Given the description of an element on the screen output the (x, y) to click on. 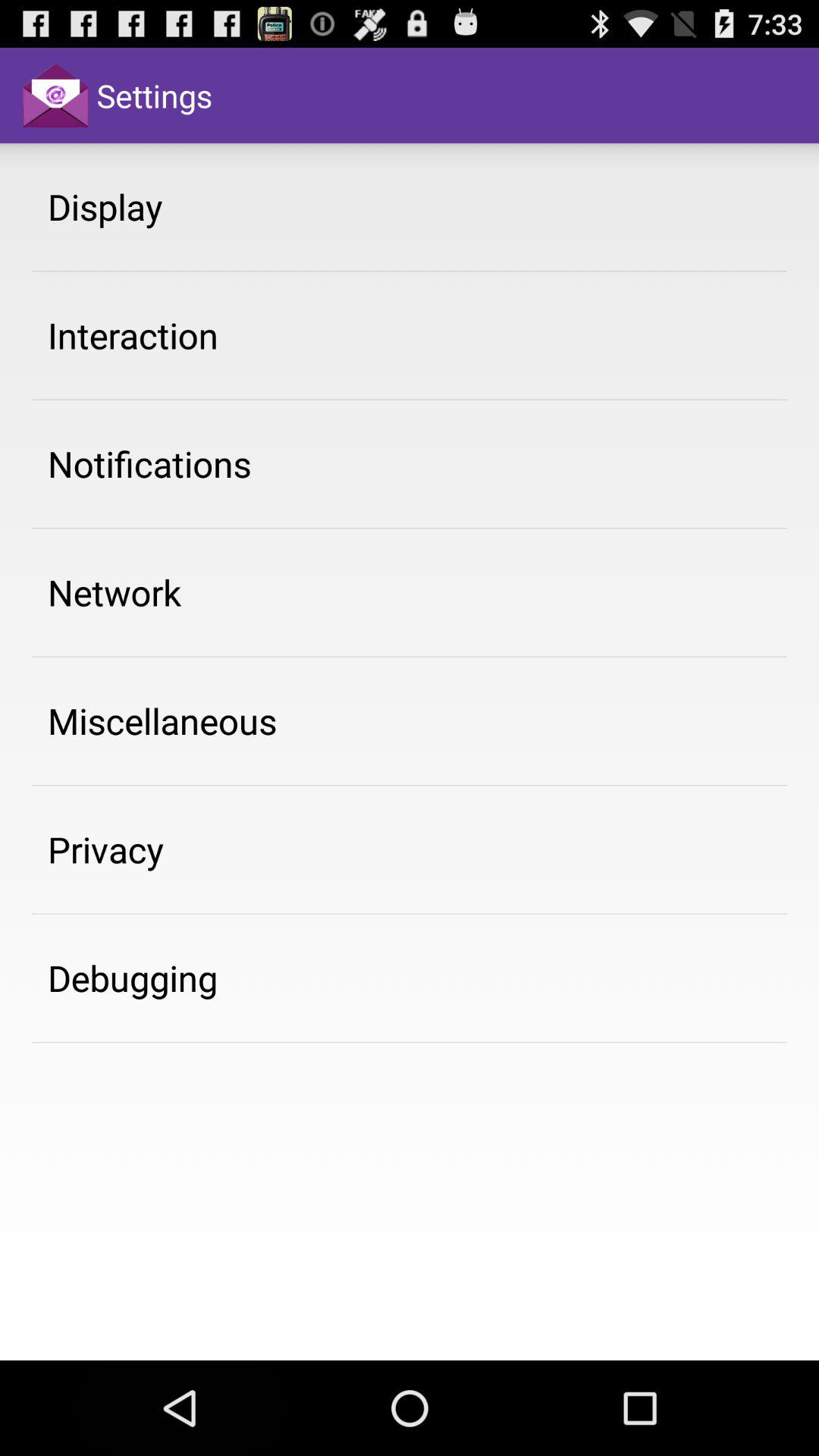
turn on display icon (104, 206)
